Given the description of an element on the screen output the (x, y) to click on. 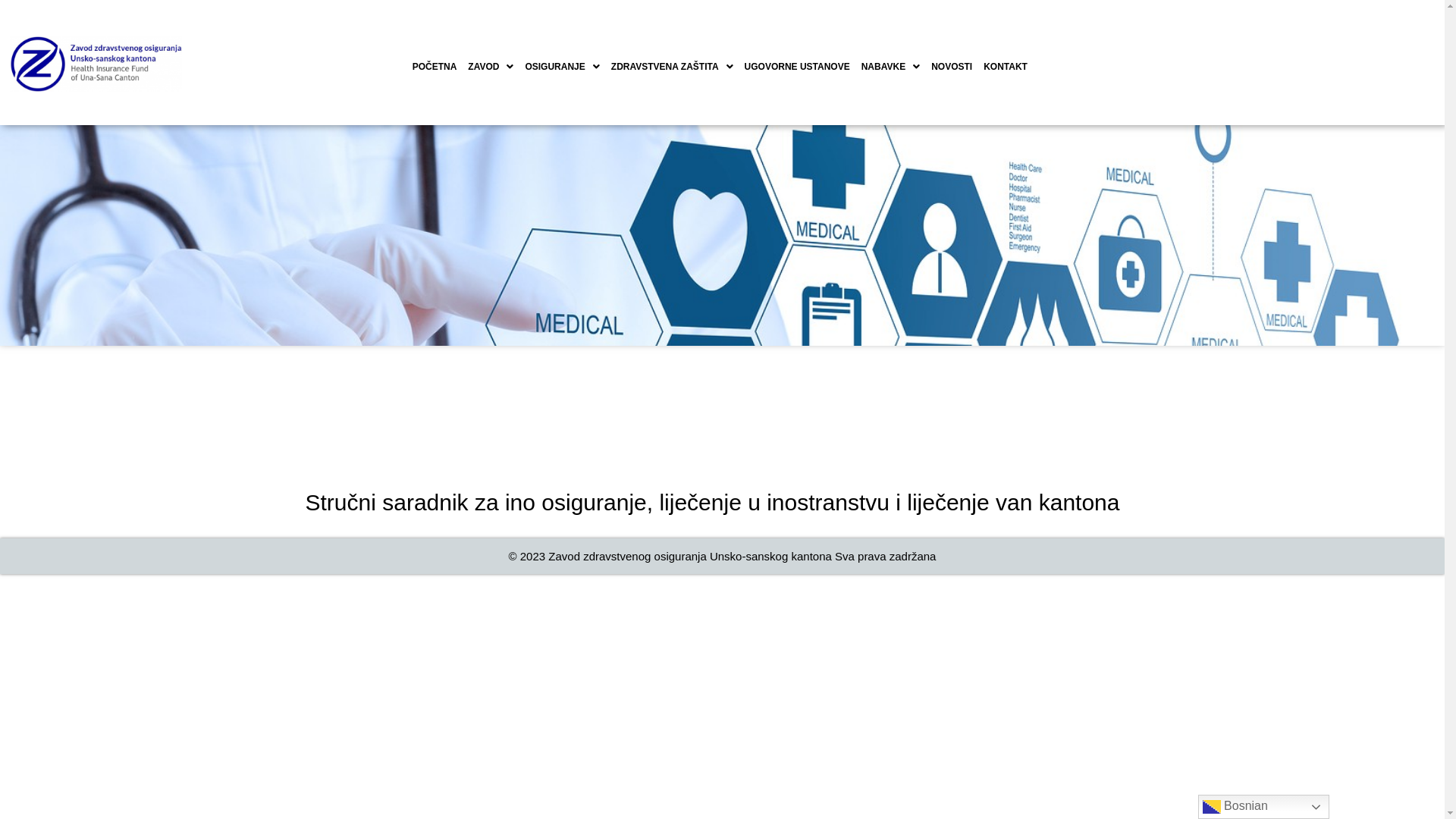
NABAVKE Element type: text (890, 66)
KONTAKT Element type: text (1005, 66)
NOVOSTI Element type: text (951, 66)
UGOVORNE USTANOVE Element type: text (797, 66)
OSIGURANJE Element type: text (561, 66)
ZAVOD Element type: text (490, 66)
